Given the description of an element on the screen output the (x, y) to click on. 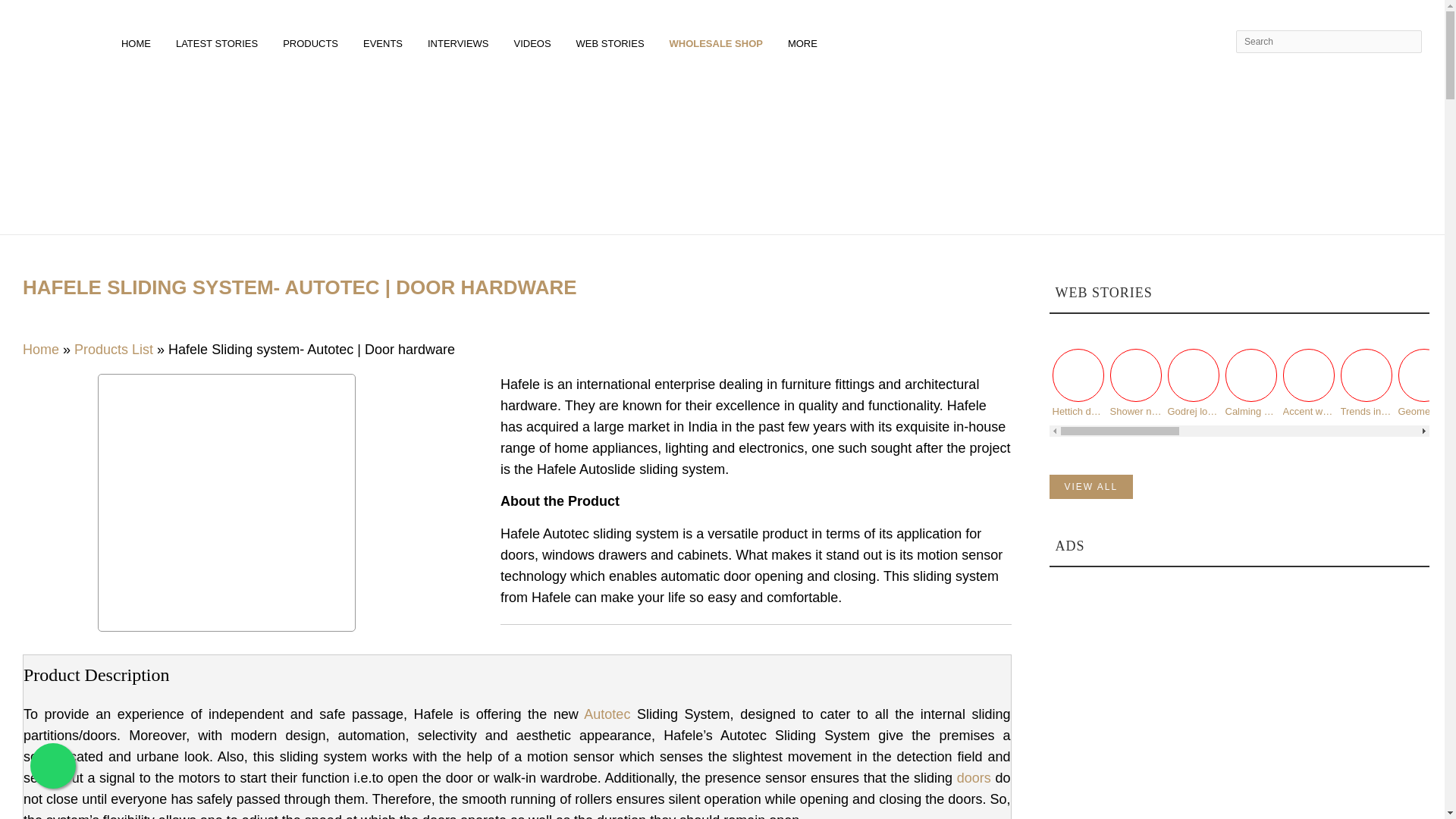
INTERVIEWS (460, 40)
EVENTS (385, 40)
WEB STORIES (612, 40)
WHOLESALE SHOP (718, 40)
MORE (804, 40)
VIDEOS (534, 40)
LATEST STORIES (219, 40)
HOME (138, 40)
PRODUCTS (313, 40)
